Given the description of an element on the screen output the (x, y) to click on. 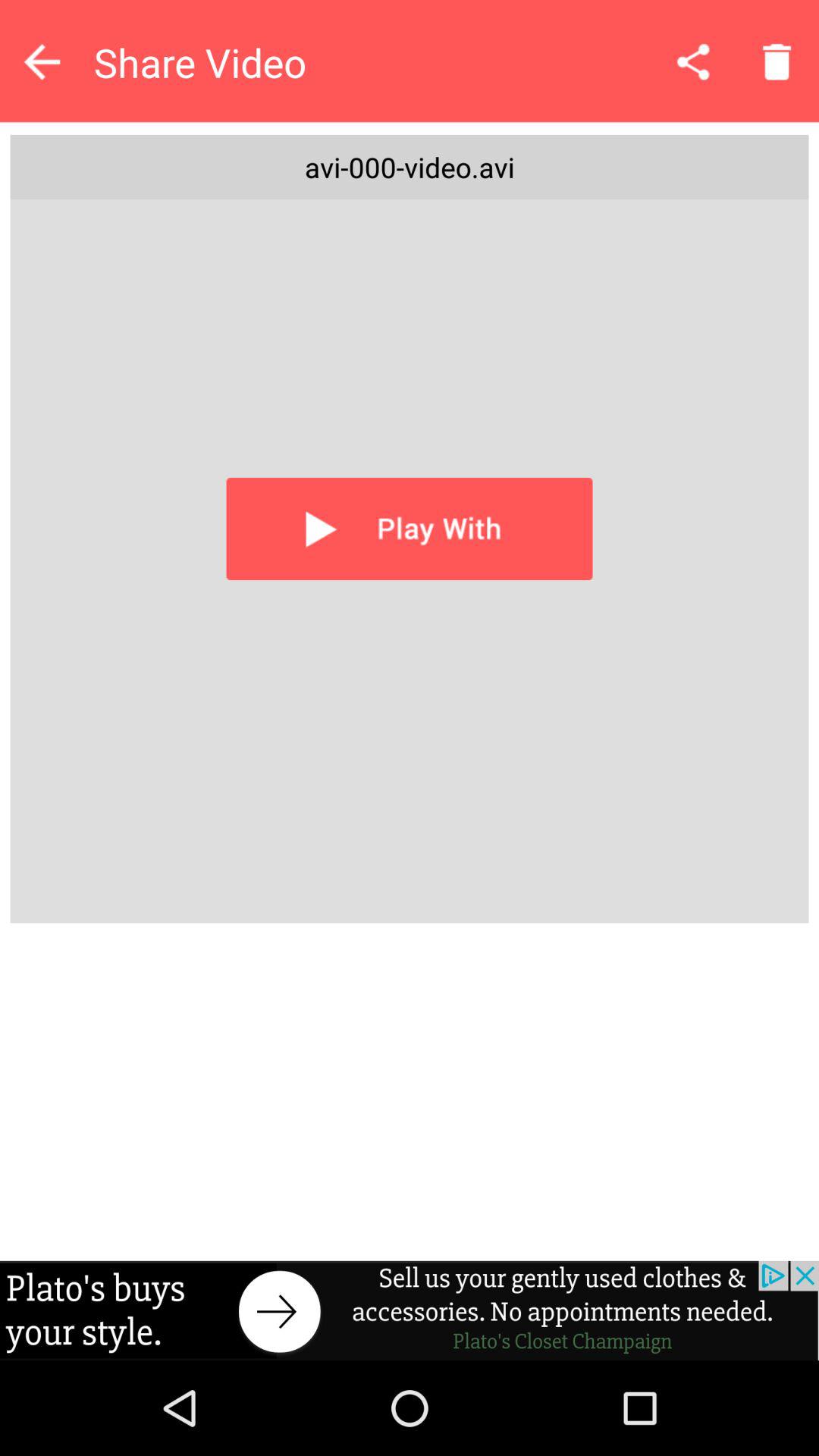
delete button (776, 61)
